Given the description of an element on the screen output the (x, y) to click on. 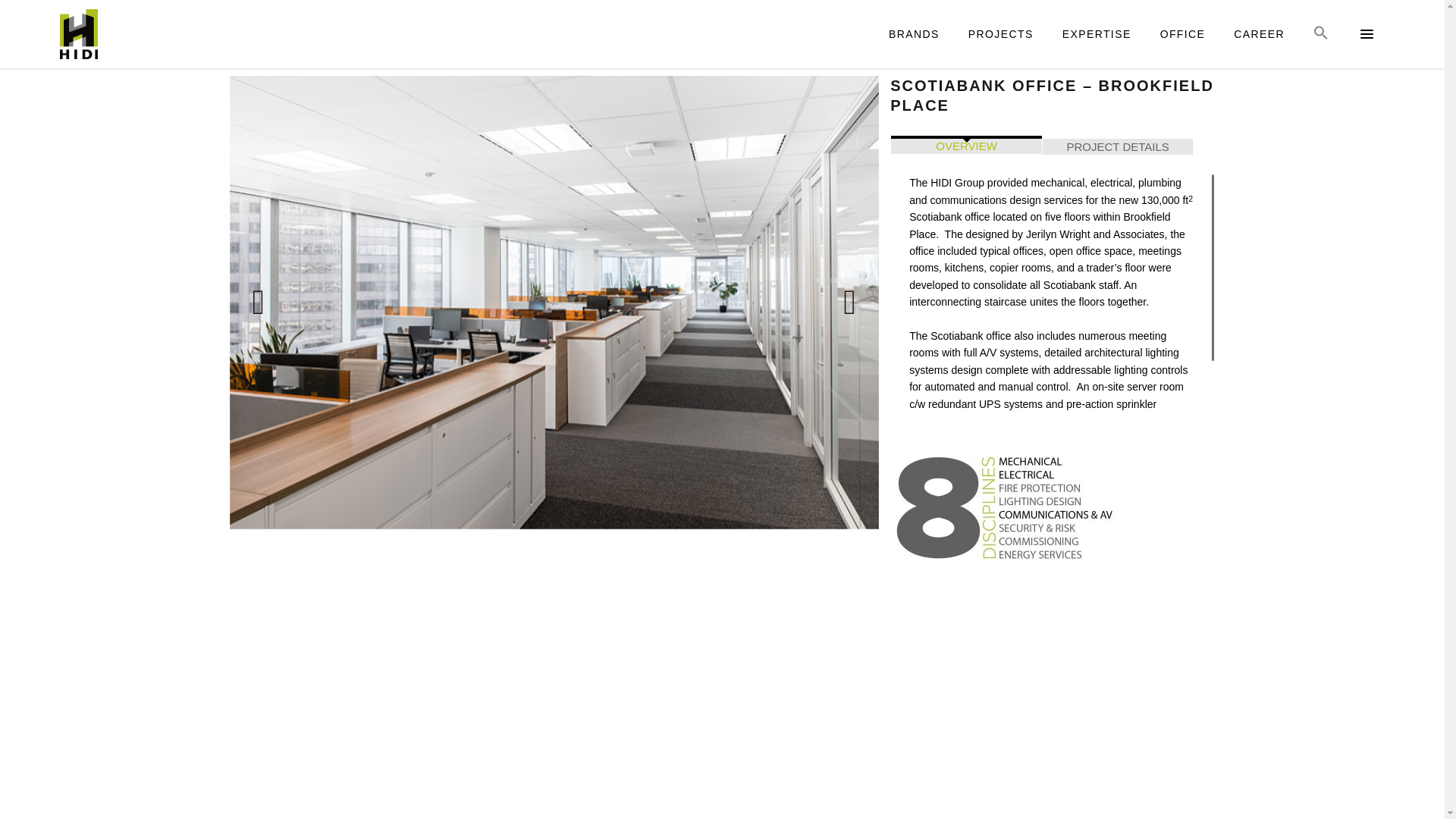
CAREER (1259, 33)
OVERVIEW (965, 145)
PROJECTS (1000, 33)
OFFICE (1182, 33)
PROJECT DETAILS (1117, 146)
EXPERTISE (1096, 33)
BRANDS (914, 33)
